Given the description of an element on the screen output the (x, y) to click on. 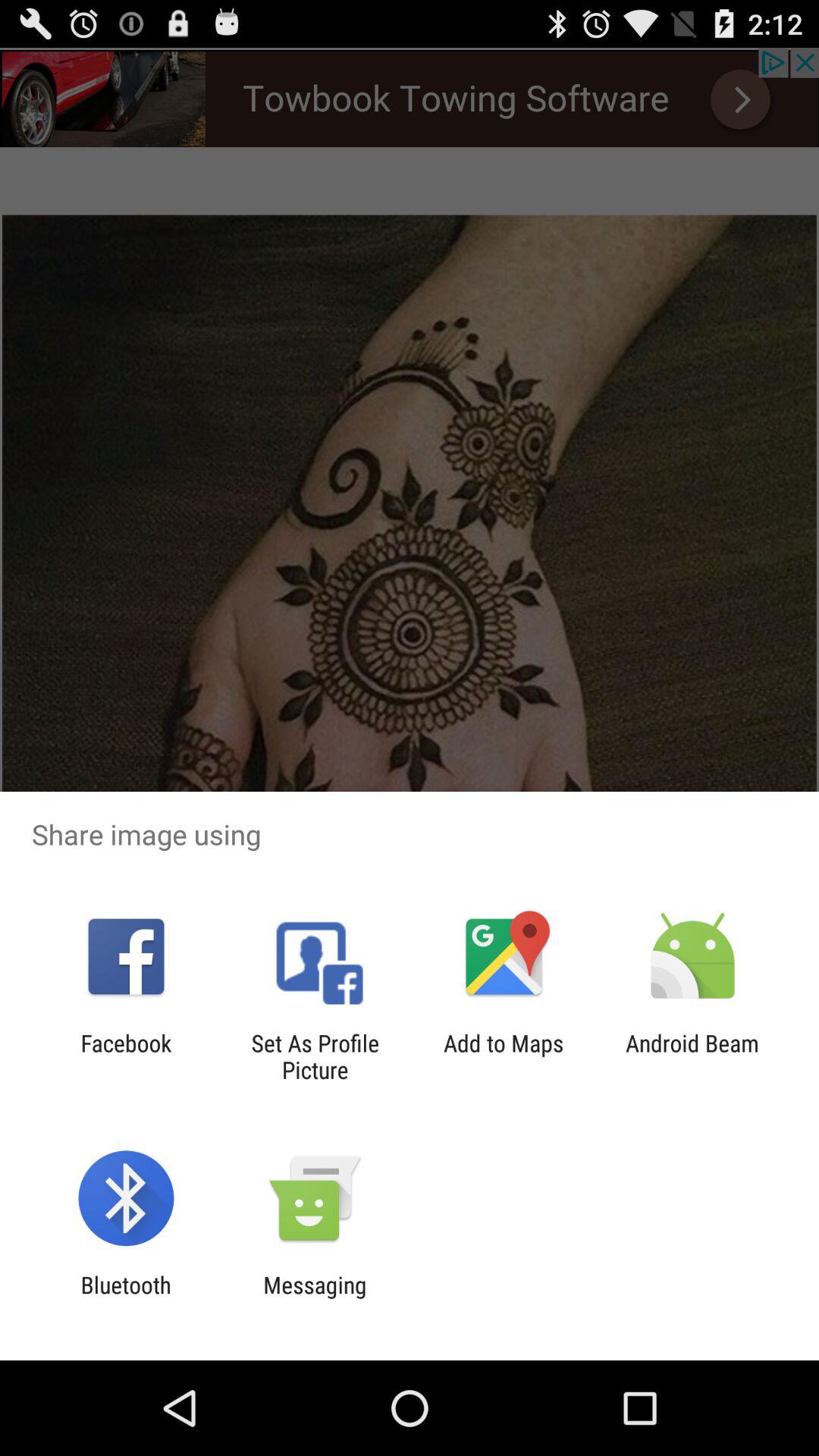
select the item to the right of the facebook icon (314, 1056)
